Given the description of an element on the screen output the (x, y) to click on. 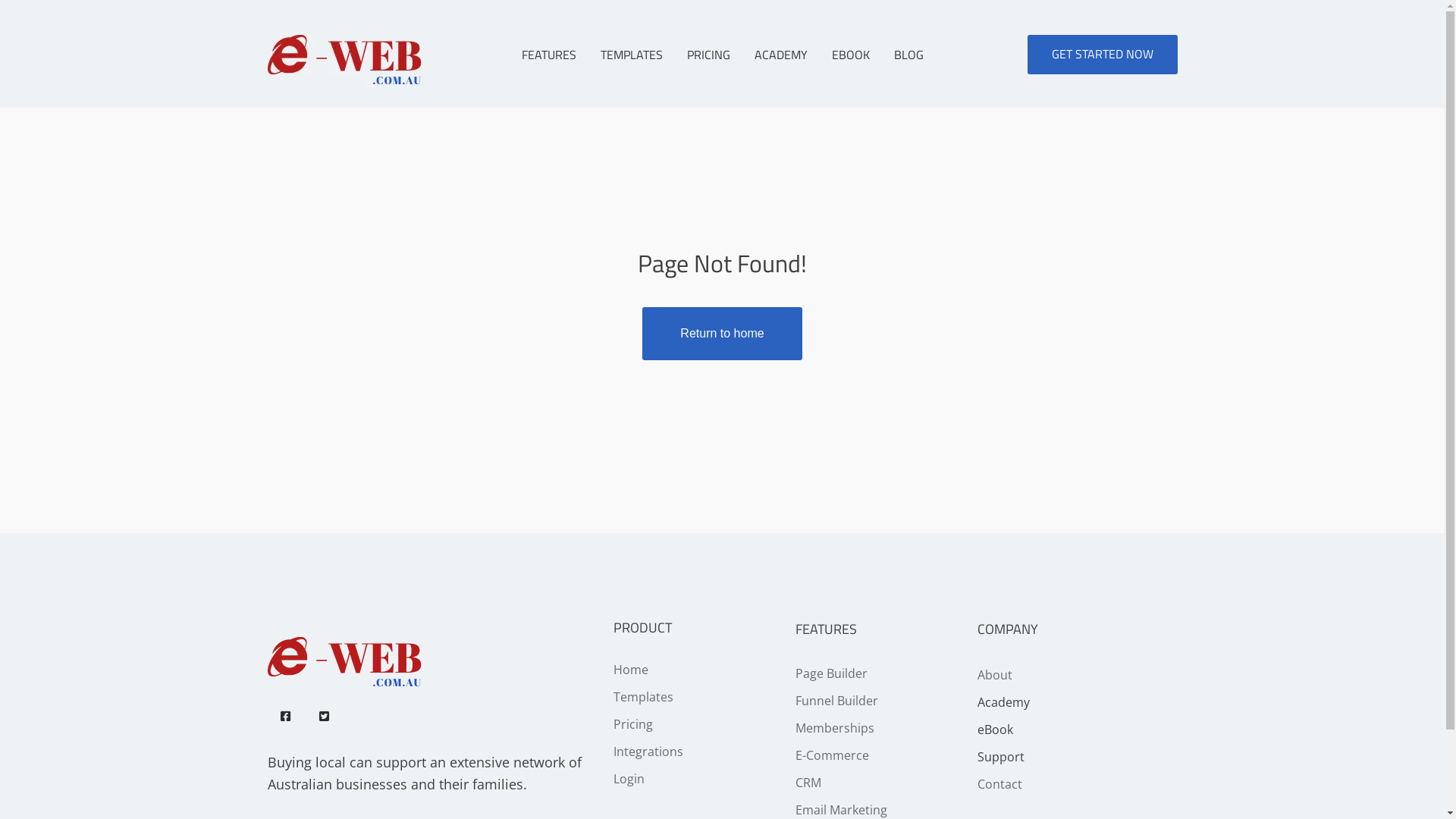
PRICING Element type: text (708, 54)
Return to home Element type: text (721, 333)
About Element type: text (993, 674)
BLOG Element type: text (908, 54)
Integrations Element type: text (647, 751)
Pricing Element type: text (632, 723)
E-Commerce Element type: text (831, 754)
Contact Element type: text (998, 783)
GET STARTED NOW Element type: text (1101, 53)
ACADEMY Element type: text (780, 54)
Login Element type: text (627, 778)
FEATURES Element type: text (548, 54)
Page Builder Element type: text (830, 673)
TEMPLATES Element type: text (631, 54)
Memberships Element type: text (833, 727)
T Element type: text (615, 696)
EBOOK Element type: text (850, 54)
Academy Element type: text (1002, 701)
Funnel Builder Element type: text (835, 700)
CRM Element type: text (807, 782)
eBook Element type: text (994, 728)
Home Element type: text (629, 669)
Support Element type: text (999, 756)
Email Marketing Element type: text (840, 809)
